Given the description of an element on the screen output the (x, y) to click on. 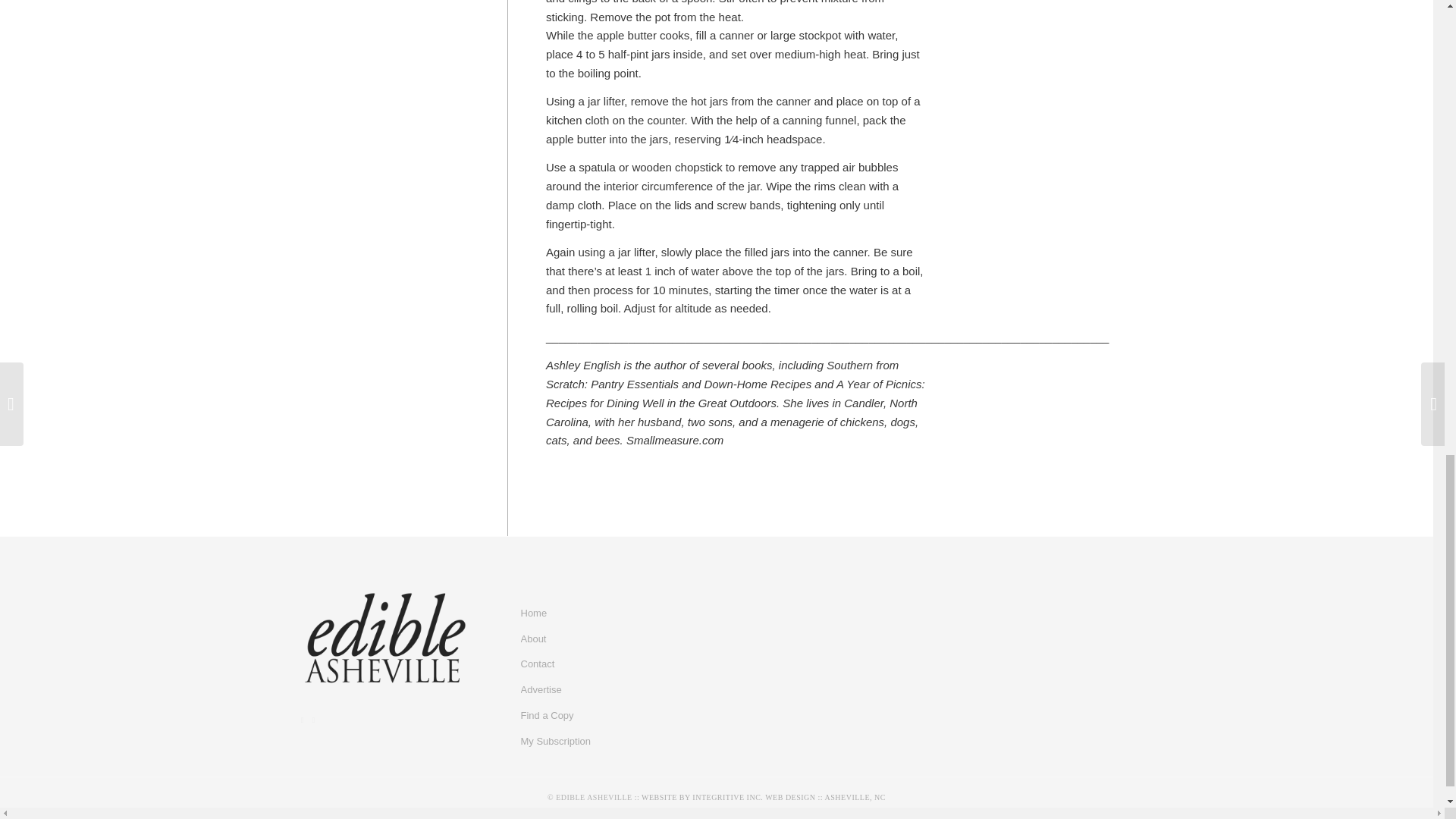
About (605, 639)
Advertise (605, 690)
My Subscription (605, 742)
Contact (605, 664)
WEBSITE BY INTEGRITIVE INC. WEB DESIGN :: ASHEVILLE, NC (763, 797)
Home (605, 614)
Find a Copy (605, 716)
